Given the description of an element on the screen output the (x, y) to click on. 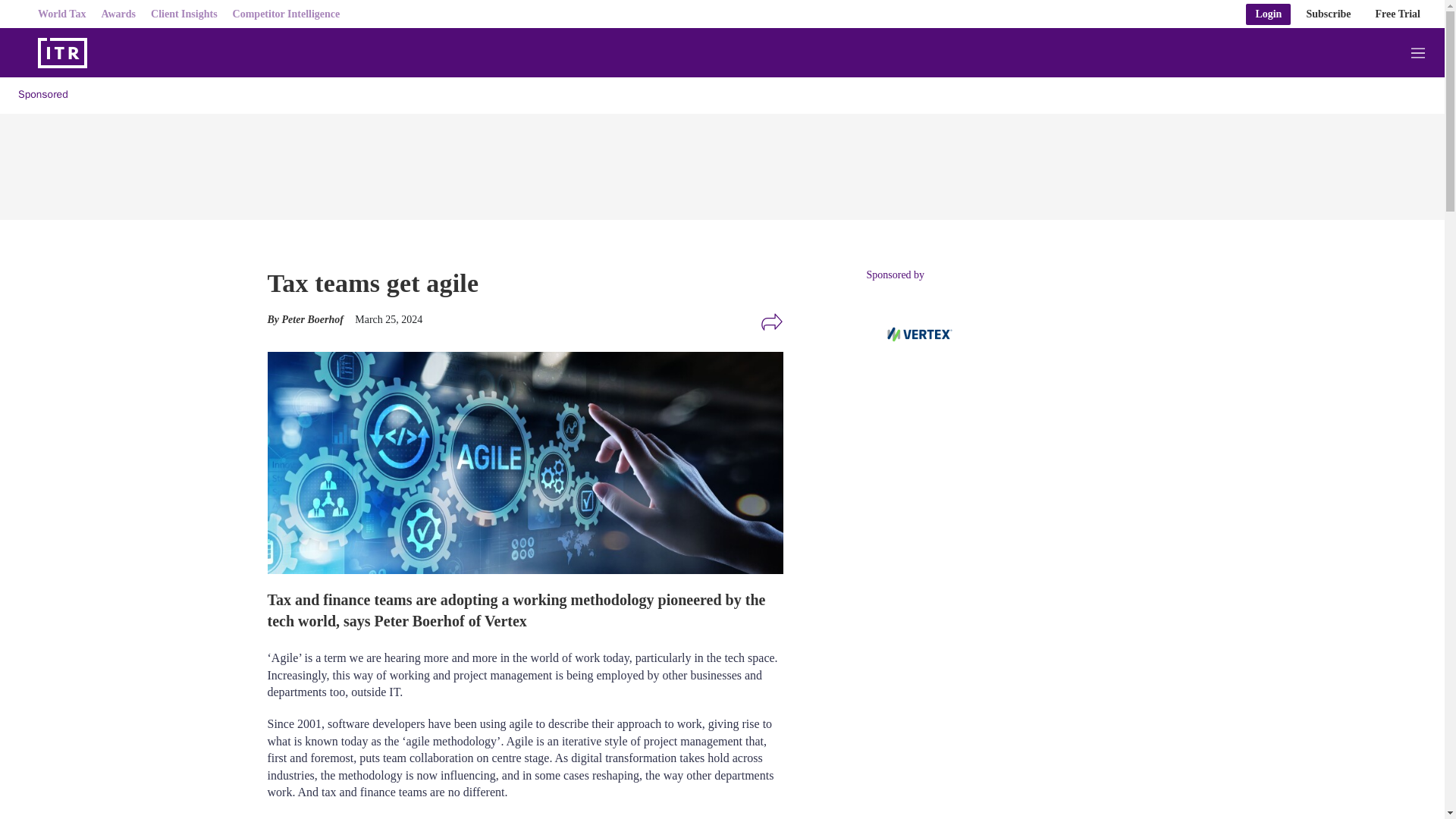
Subscribe (1328, 13)
Free Trial (1398, 13)
Client Insights (183, 13)
Awards (117, 13)
3rd party ad content (979, 706)
3rd party ad content (721, 162)
Share (771, 322)
3rd party ad content (979, 502)
World Tax (61, 13)
Competitor Intelligence (286, 13)
